Given the description of an element on the screen output the (x, y) to click on. 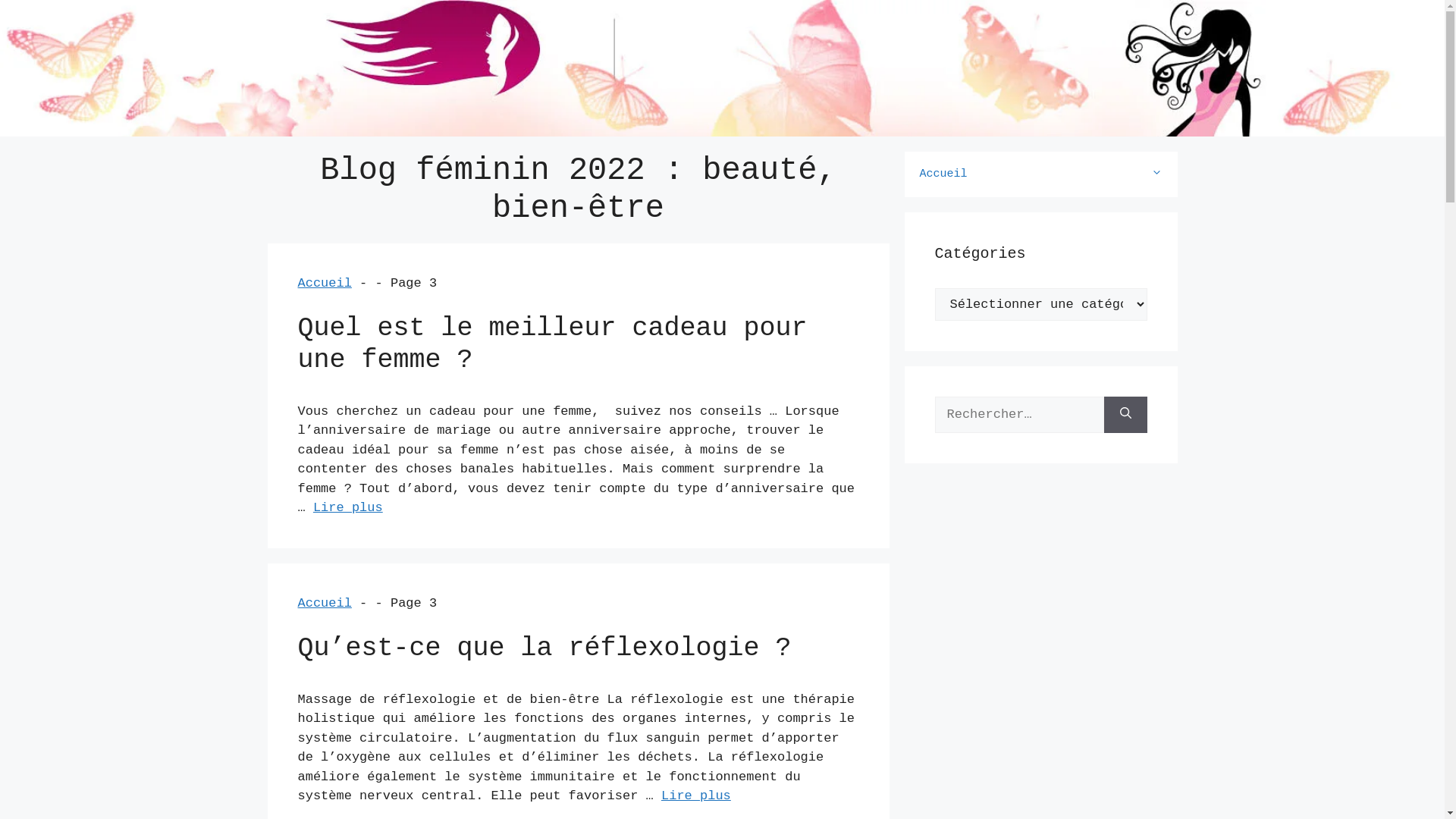
Quel est le meilleur cadeau pour une femme ? Element type: text (551, 344)
Accueil Element type: text (324, 283)
Accueil Element type: text (1039, 174)
Accueil Element type: text (324, 603)
Lire plus Element type: text (347, 507)
Lire plus Element type: text (696, 795)
